Given the description of an element on the screen output the (x, y) to click on. 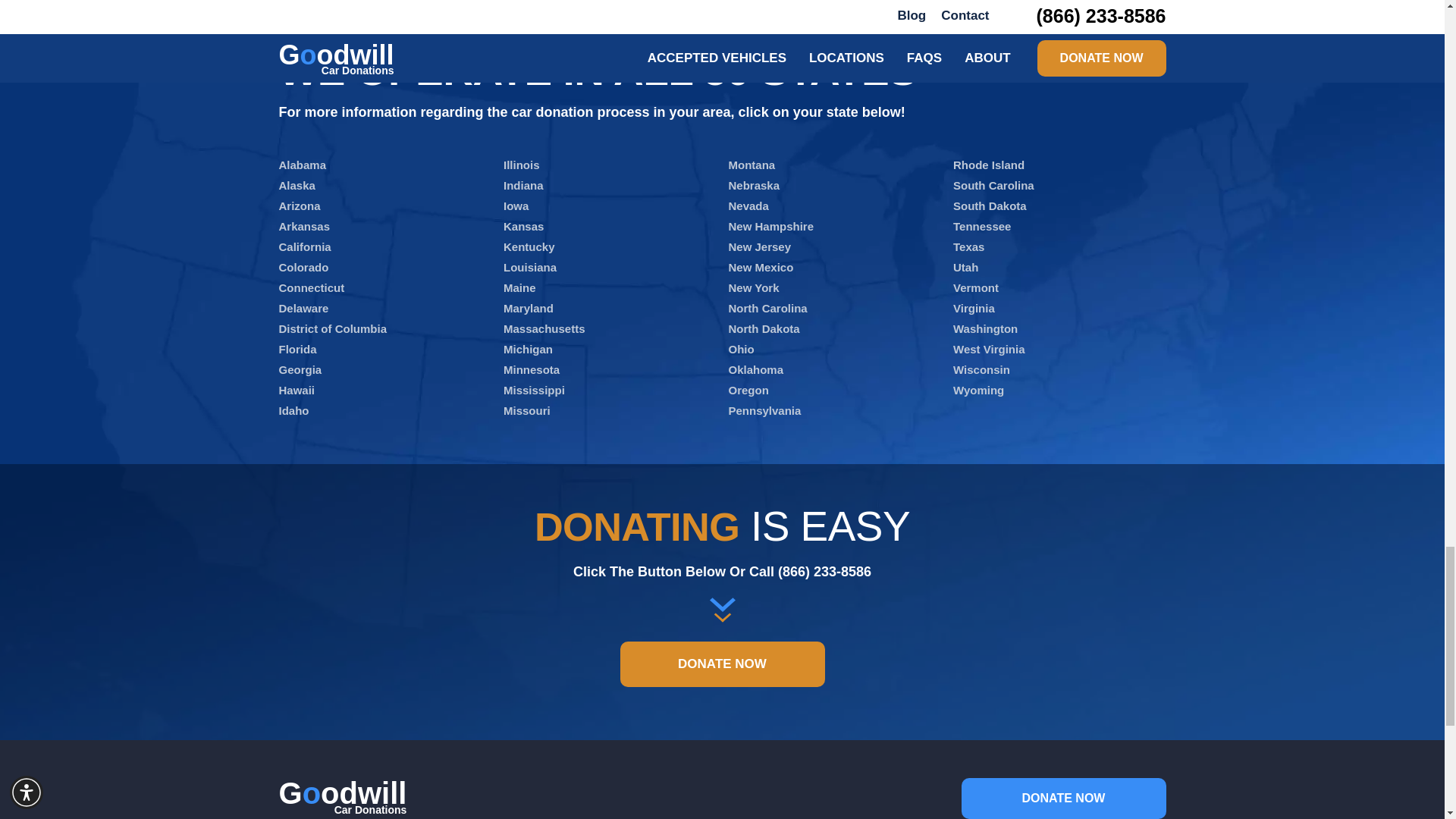
Arizona (299, 205)
Arkansas (304, 226)
Alabama (302, 164)
Alaska (297, 185)
